Given the description of an element on the screen output the (x, y) to click on. 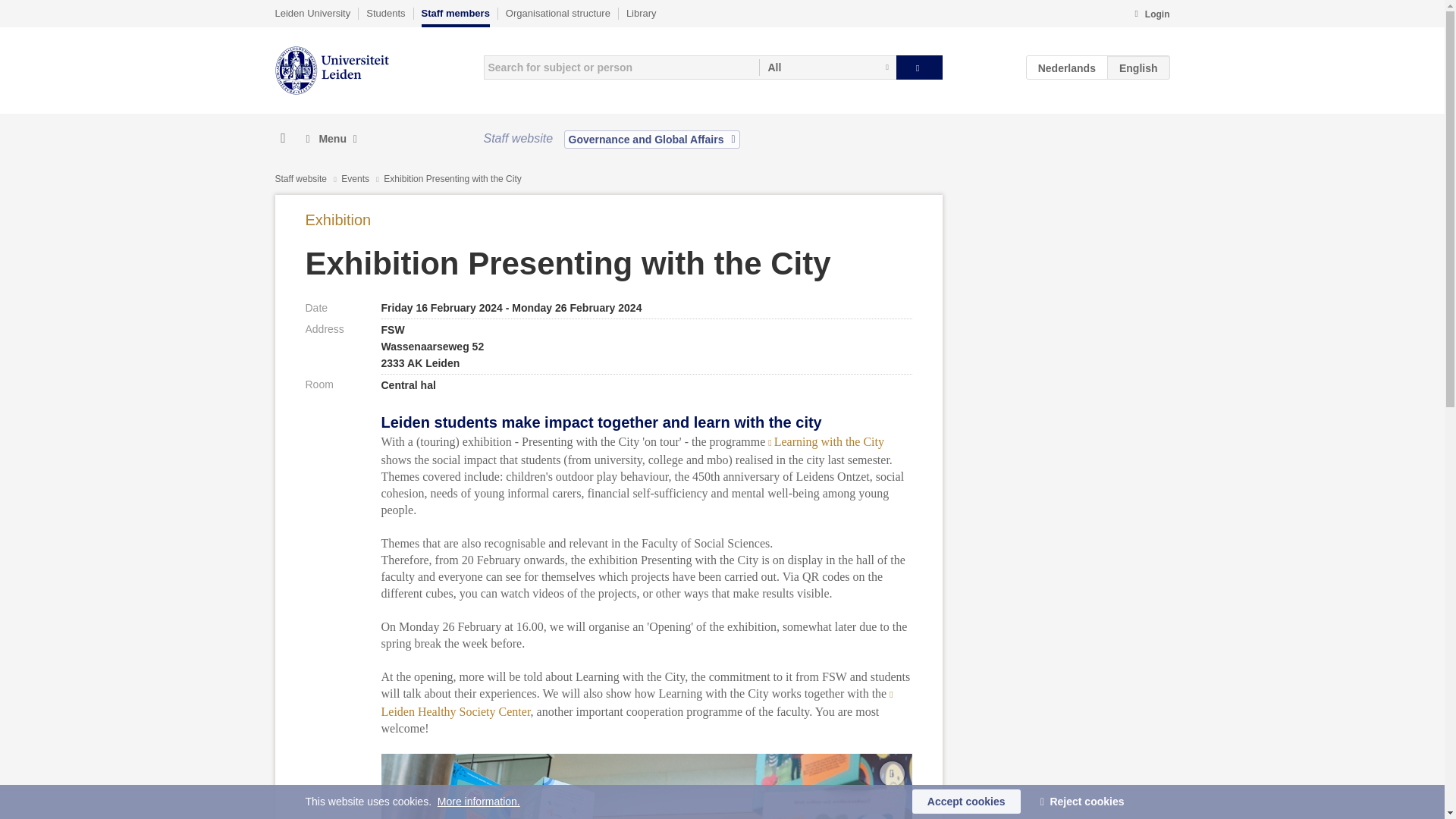
Menu (330, 139)
Search (919, 67)
Login (1151, 14)
All (827, 67)
Organisational structure (557, 13)
Governance and Global Affairs (651, 139)
Leiden University (312, 13)
Students (385, 13)
Staff members (455, 17)
Library (641, 13)
NL (1067, 67)
